Given the description of an element on the screen output the (x, y) to click on. 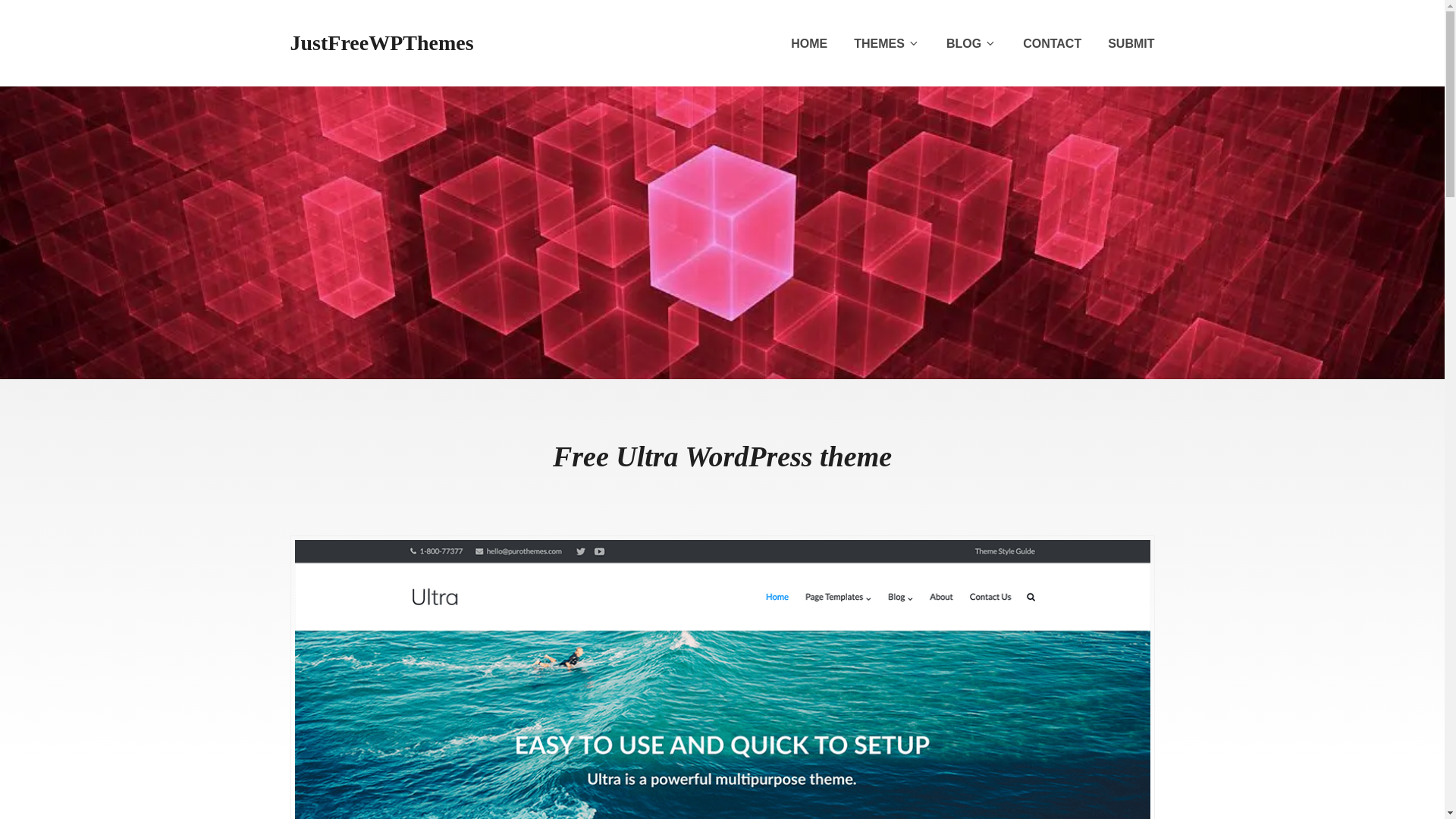
JustFreeWPThemes (381, 42)
HOME (808, 44)
BLOG (970, 44)
CONTACT (1052, 44)
THEMES (886, 44)
SUBMIT (1131, 44)
